Given the description of an element on the screen output the (x, y) to click on. 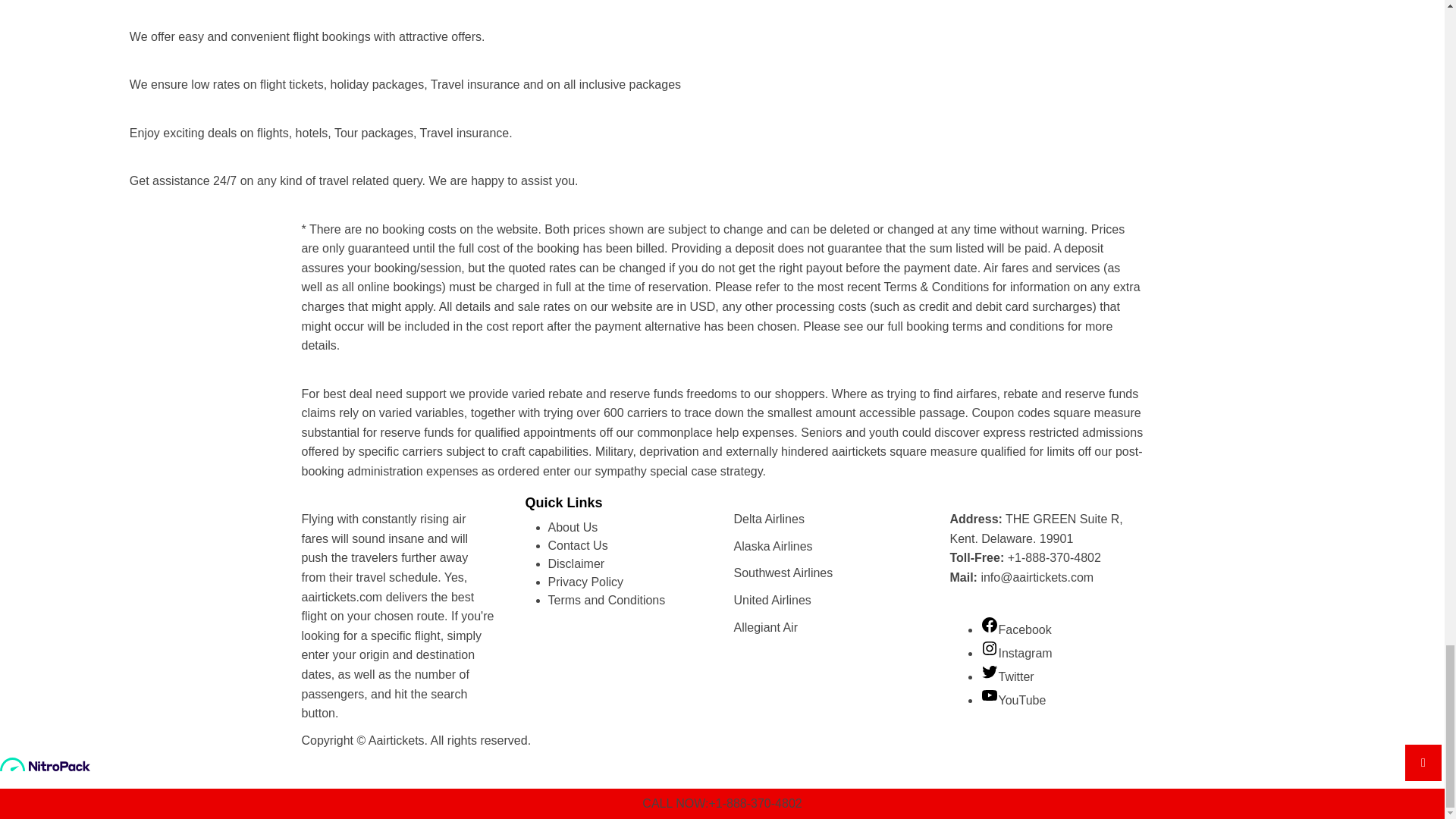
Contact Us (577, 545)
Alaska Airlines (772, 545)
Terms and Conditions (606, 599)
Delta Airlines (769, 518)
Southwest Airlines (782, 572)
Privacy Policy (585, 581)
Disclaimer (575, 563)
About Us (571, 526)
